Given the description of an element on the screen output the (x, y) to click on. 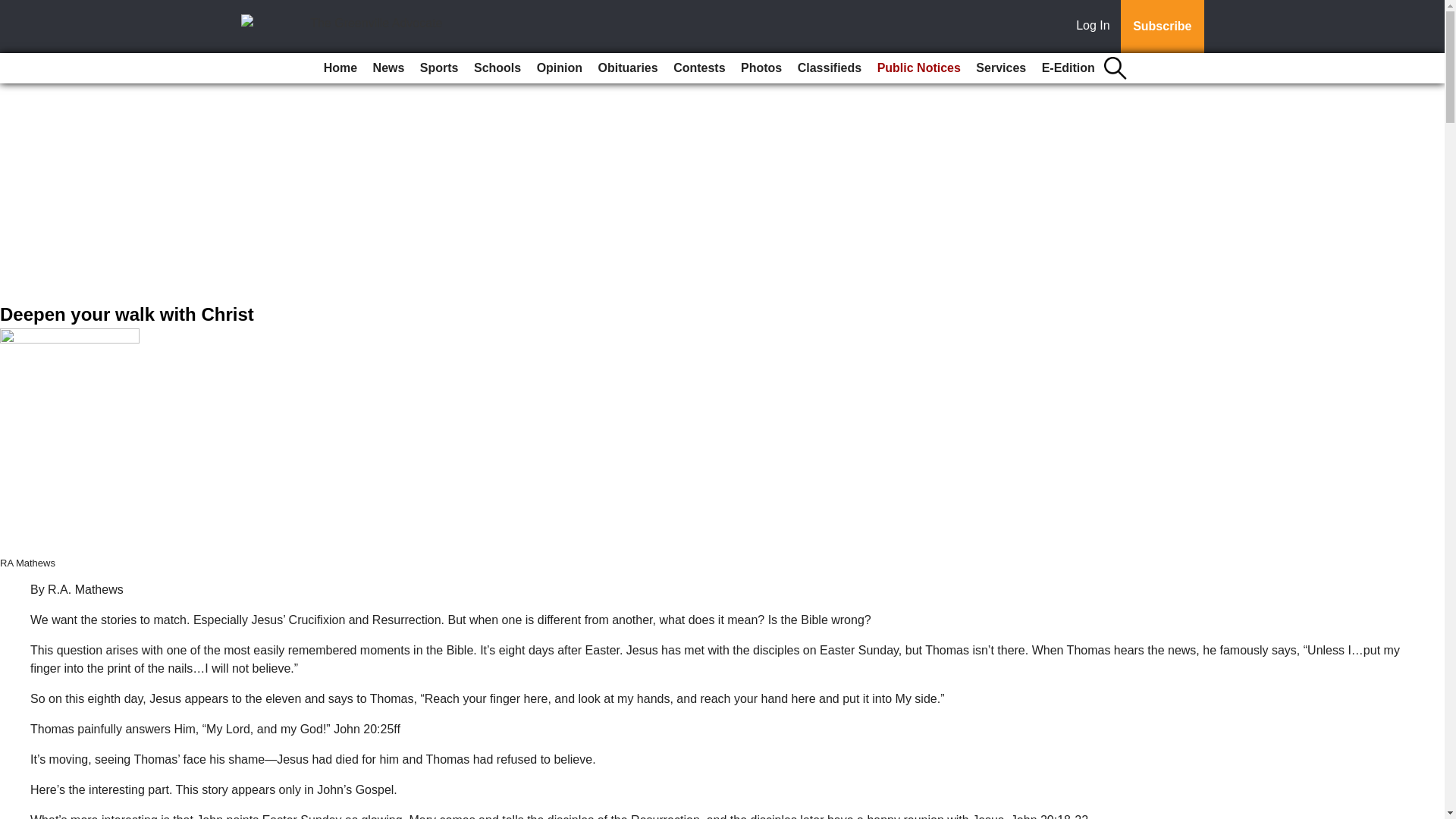
Obituaries (627, 68)
Public Notices (918, 68)
E-Edition (1067, 68)
Subscribe (1162, 26)
Go (13, 9)
Schools (497, 68)
Log In (1095, 26)
Services (1000, 68)
Home (339, 68)
Contests (698, 68)
Classifieds (829, 68)
Opinion (559, 68)
Sports (438, 68)
News (388, 68)
Photos (761, 68)
